Given the description of an element on the screen output the (x, y) to click on. 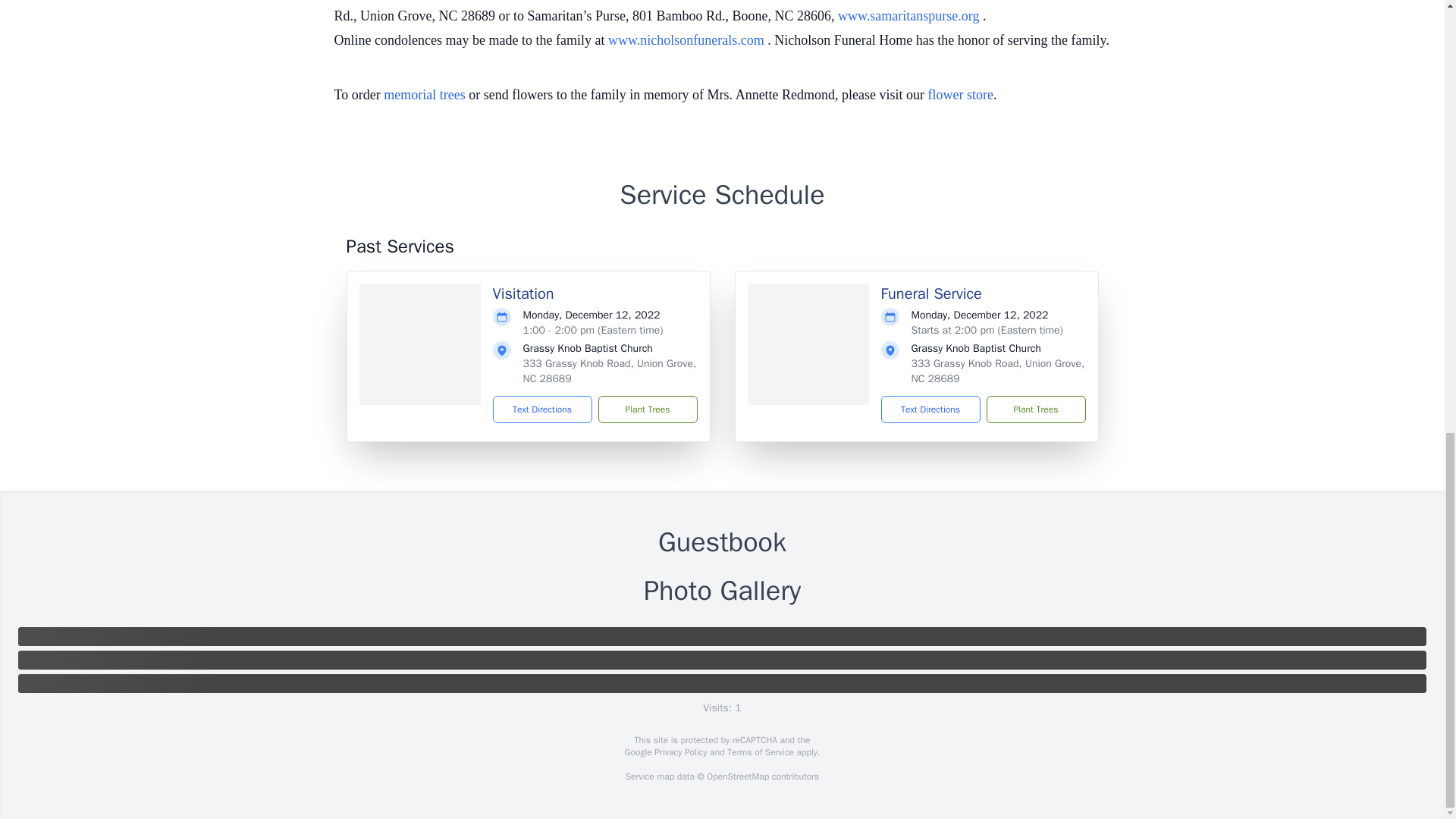
Text Directions (542, 409)
333 Grassy Knob Road, Union Grove, NC 28689 (609, 370)
Privacy Policy (679, 752)
Plant Trees (646, 409)
Click to open in a new window or tab (687, 39)
Click to open in a new window or tab (910, 15)
Terms of Service (759, 752)
memorial trees (424, 94)
flower store (960, 94)
www.samaritanspurse.org (910, 15)
